Given the description of an element on the screen output the (x, y) to click on. 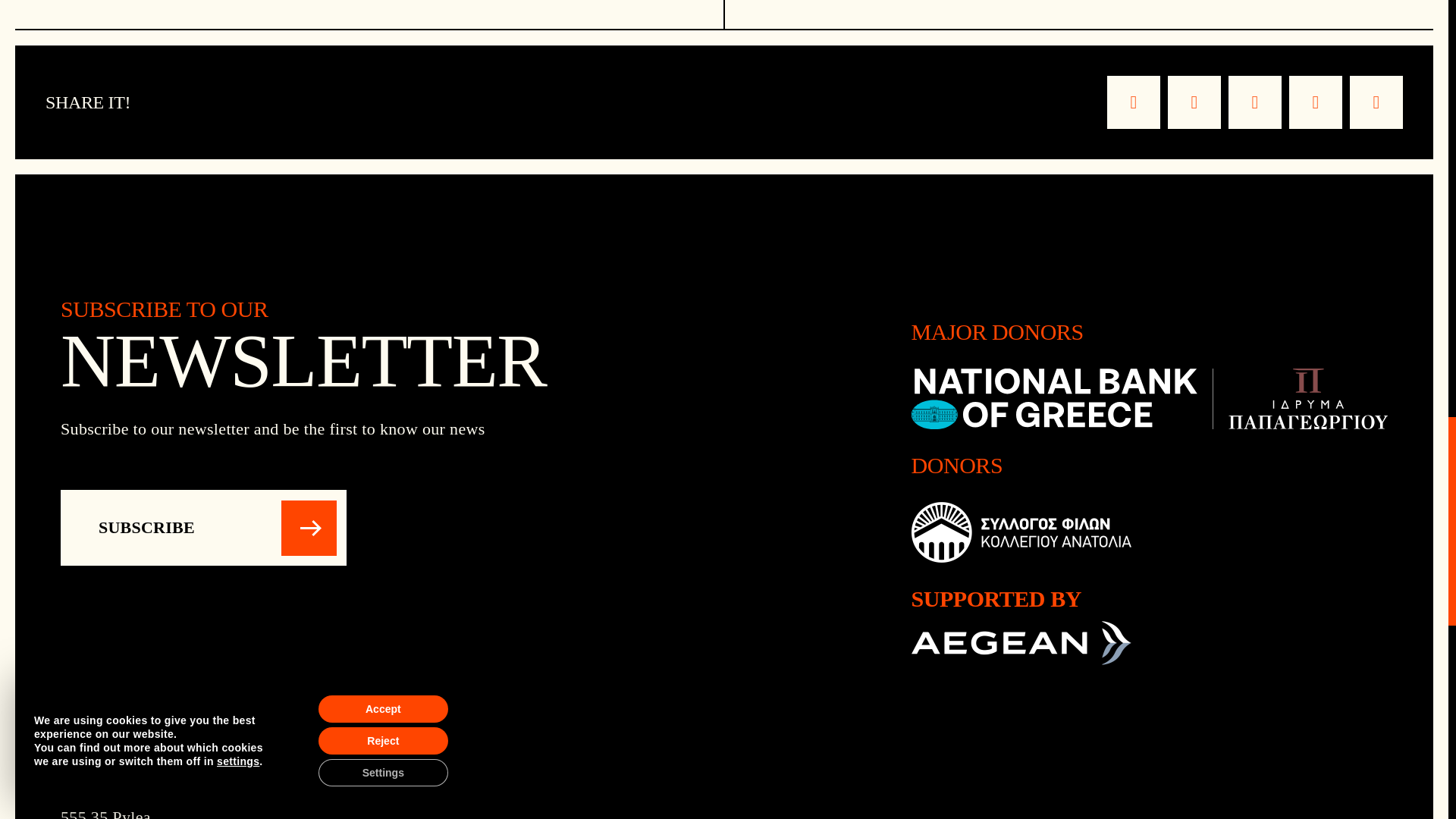
Next (1078, 14)
SUBSCRIBE (203, 527)
Previous (368, 14)
